Given the description of an element on the screen output the (x, y) to click on. 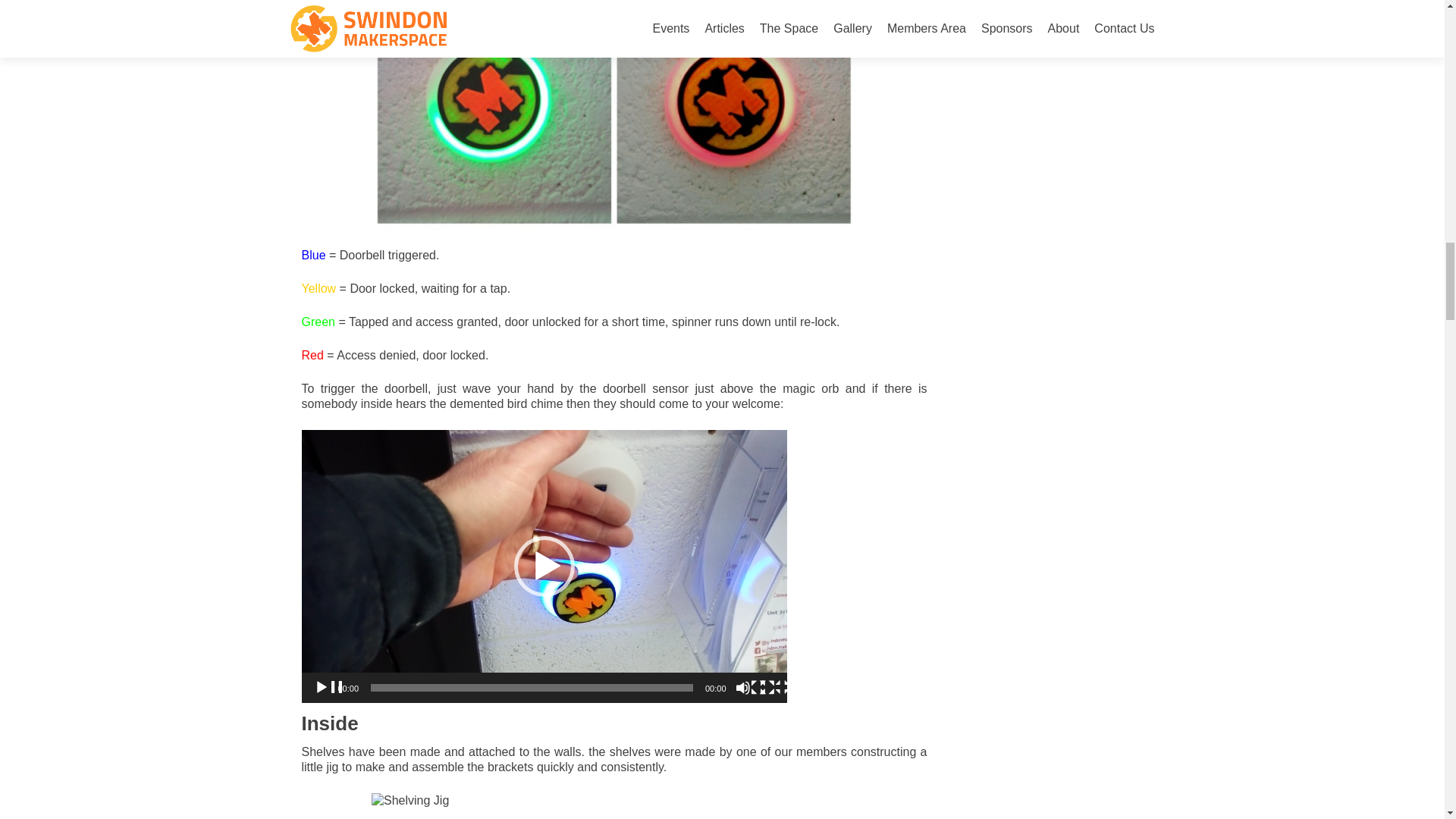
Fullscreen (775, 687)
Mute (750, 687)
Play (328, 687)
